Given the description of an element on the screen output the (x, y) to click on. 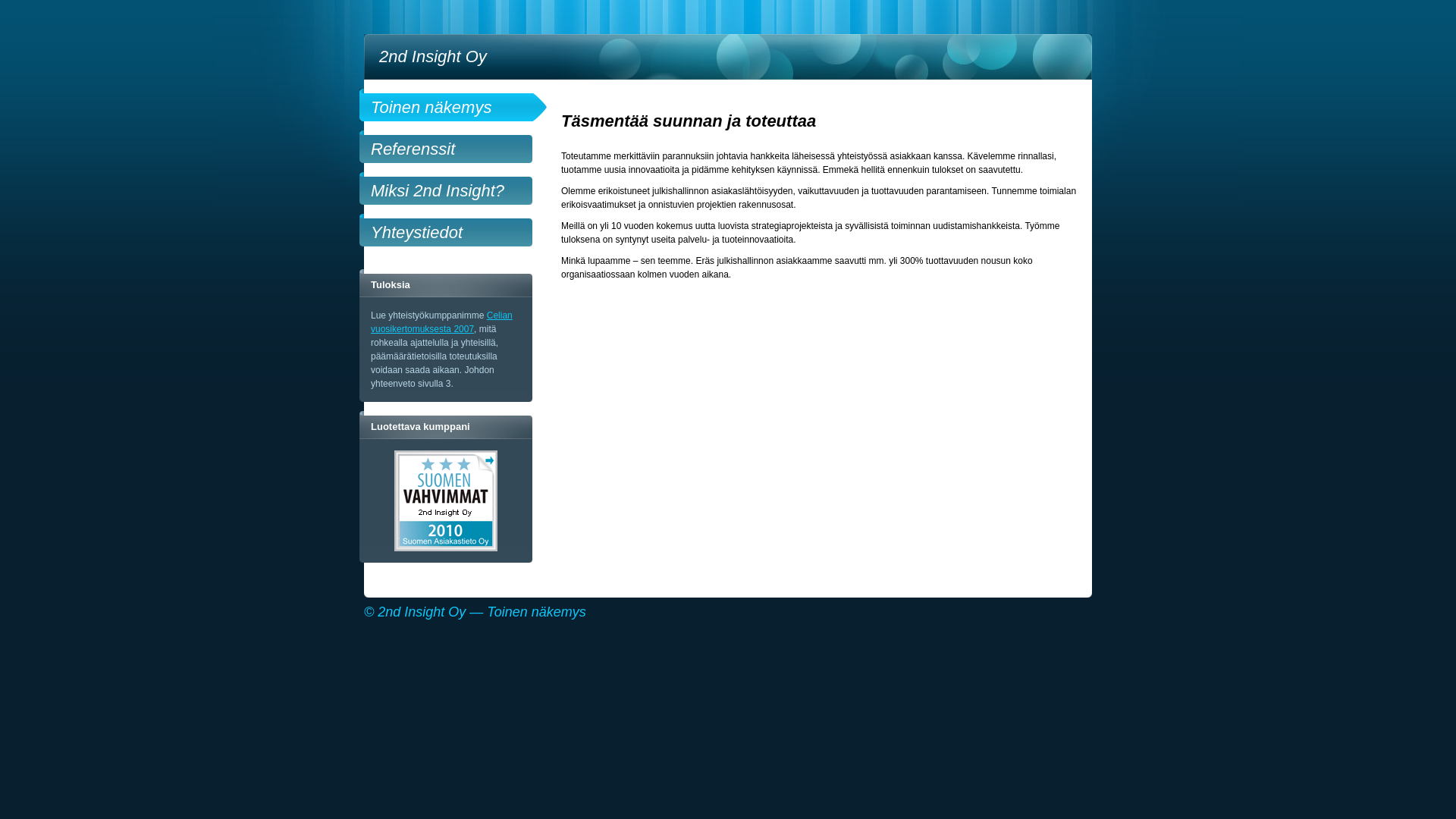
Celian vuosikertomuksesta 2007 Element type: text (441, 322)
Miksi 2nd Insight? Element type: text (457, 188)
Yhteystiedot Element type: text (457, 229)
sv2010_2nd_insight_oy_fi_19768 Element type: hover (445, 500)
Referenssit Element type: text (457, 146)
